Given the description of an element on the screen output the (x, y) to click on. 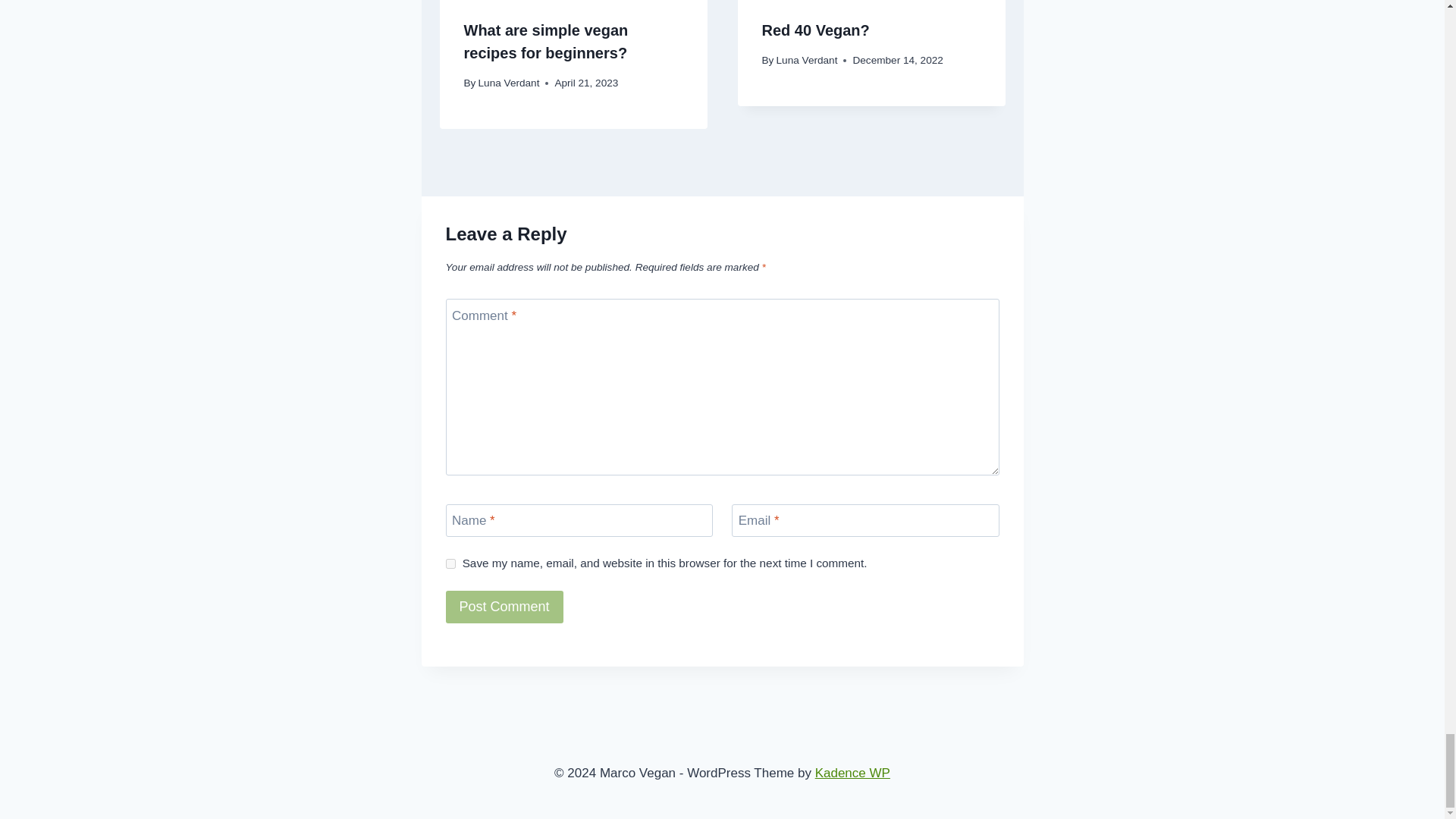
yes (450, 563)
Post Comment (504, 606)
